Given the description of an element on the screen output the (x, y) to click on. 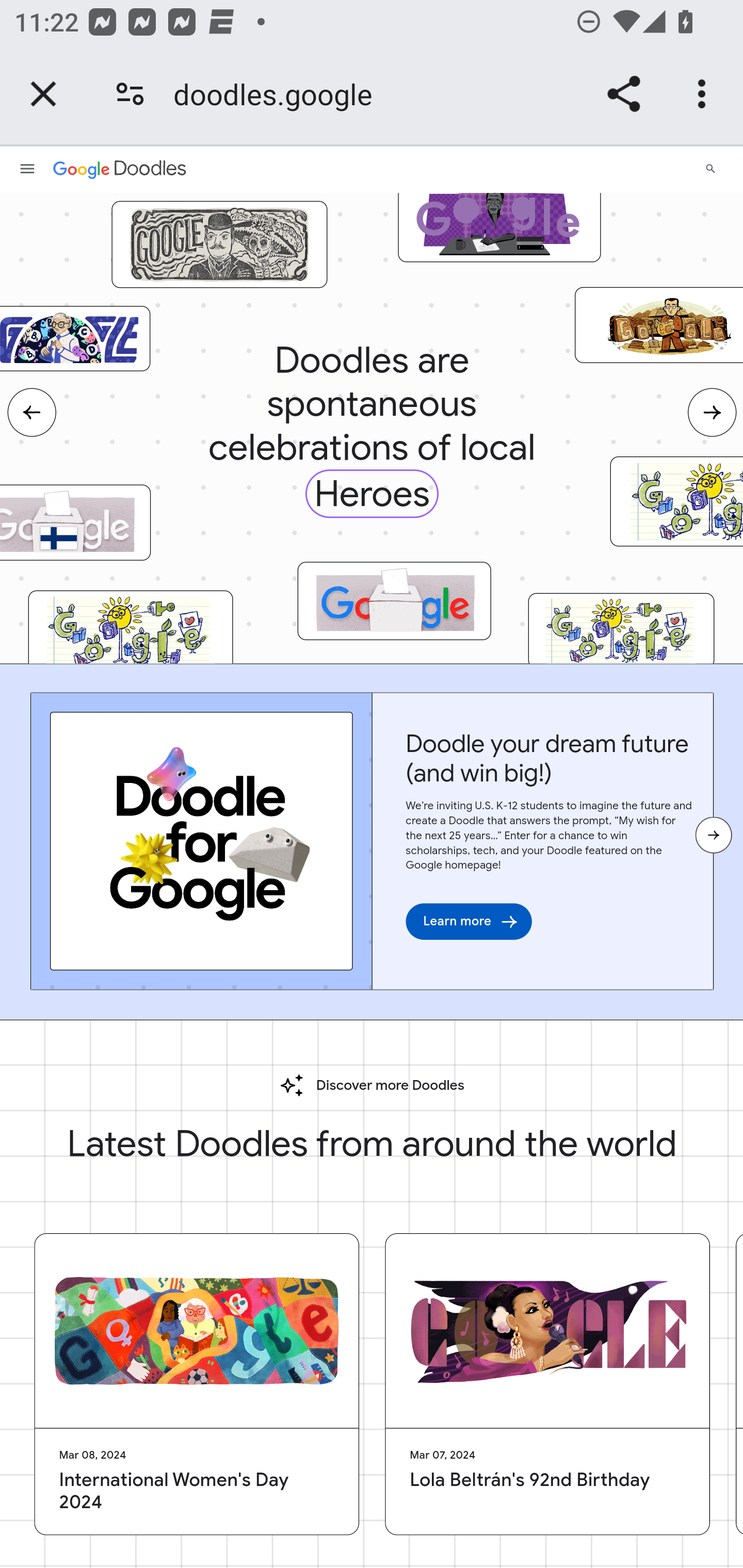
Close tab (43, 93)
Share (623, 93)
Customize and control Google Chrome (705, 93)
Connection is secure (129, 93)
doodles.google (280, 93)
Open the navigation drawer (27, 168)
Google doodles (119, 168)
Search (710, 168)
Celebrating James Baldwin (499, 220)
José Guadalupe Posada's 172nd Birthday (218, 244)
Alfonso Caso's 128th Birthday (658, 324)
Casimir Funk's 140th Birthday (75, 337)
Previous slide (31, 412)
Next slide (712, 412)
Teachers' Day 2024 (Jan 16) (676, 500)
Finland Presidential Elections 2024 (75, 522)
Taiwan Presidential Elections 2024 (394, 601)
Teachers' Day 2024 (Jan 15) (130, 630)
Teachers' Day 2024 (Jan 12) (620, 629)
Next slide (712, 834)
Learn more (467, 920)
